Given the description of an element on the screen output the (x, y) to click on. 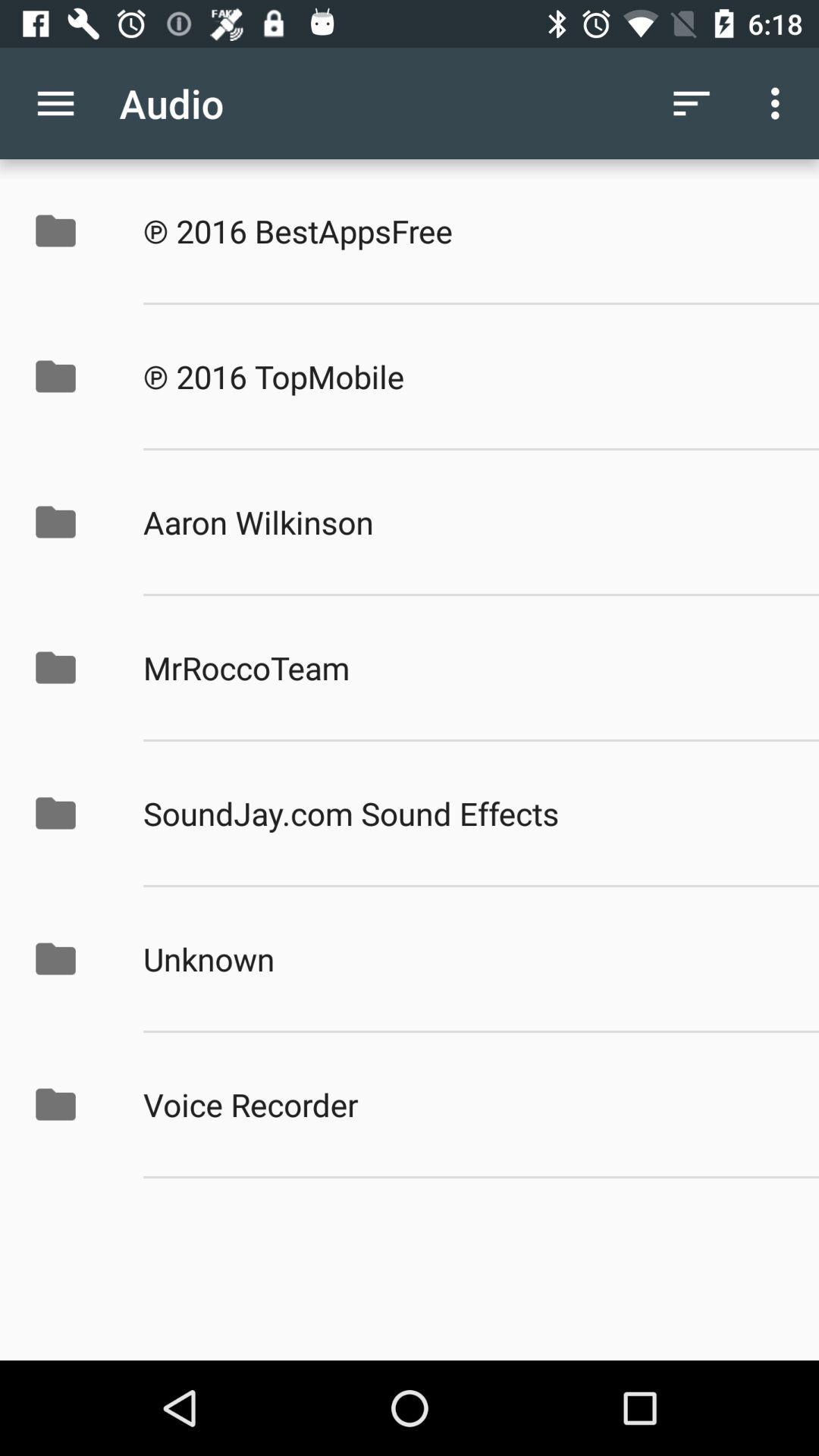
choose the voice recorder icon (465, 1104)
